Given the description of an element on the screen output the (x, y) to click on. 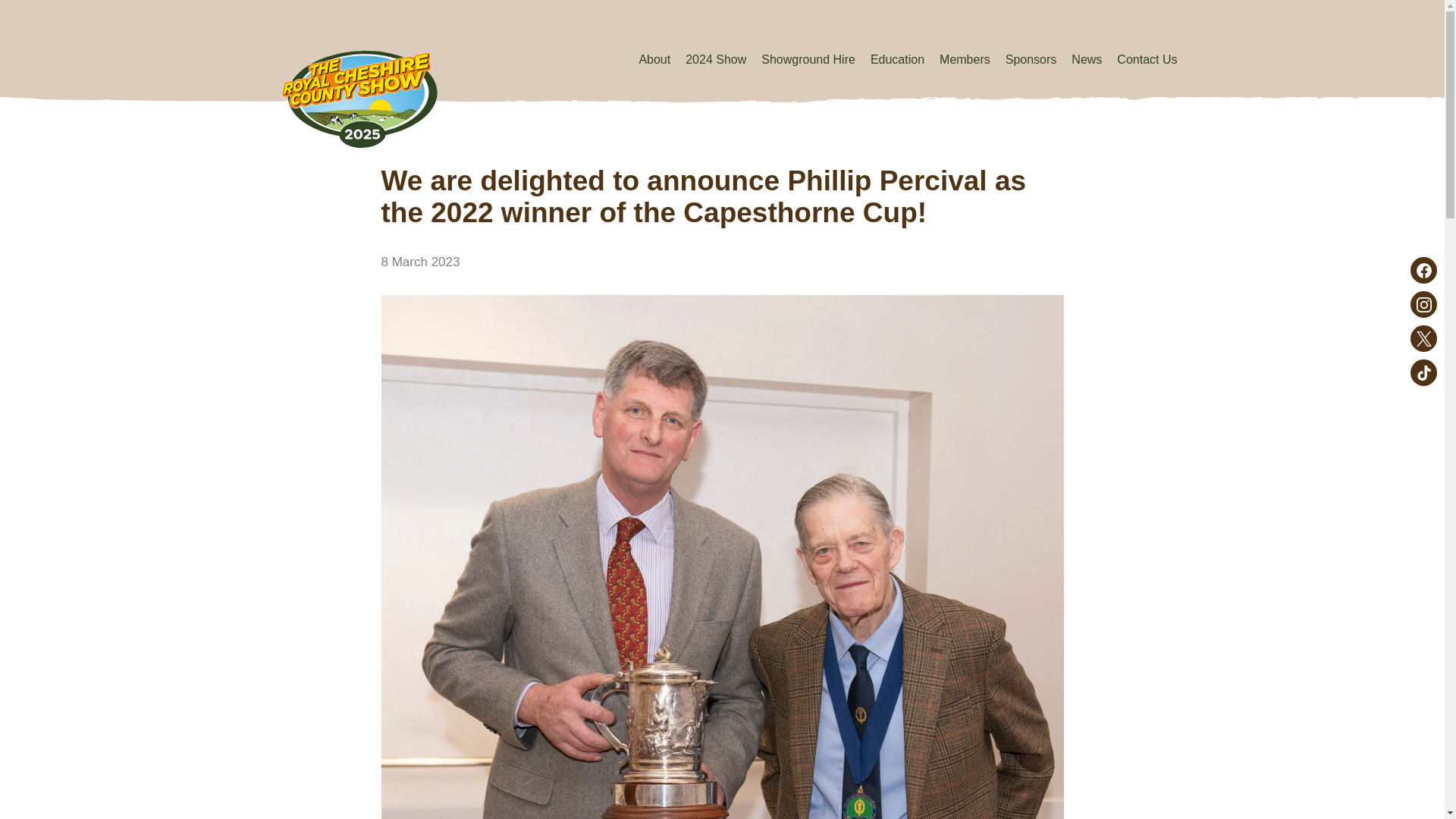
Showground Hire (808, 59)
About (654, 59)
Submit (438, 619)
Education (897, 59)
2024 Show (715, 59)
News (1086, 59)
Members (964, 59)
Members (964, 59)
Contact Us (1146, 59)
Sponsors (1031, 59)
2024 Show (715, 59)
Showground Hire (808, 59)
Education (897, 59)
About (654, 59)
